Given the description of an element on the screen output the (x, y) to click on. 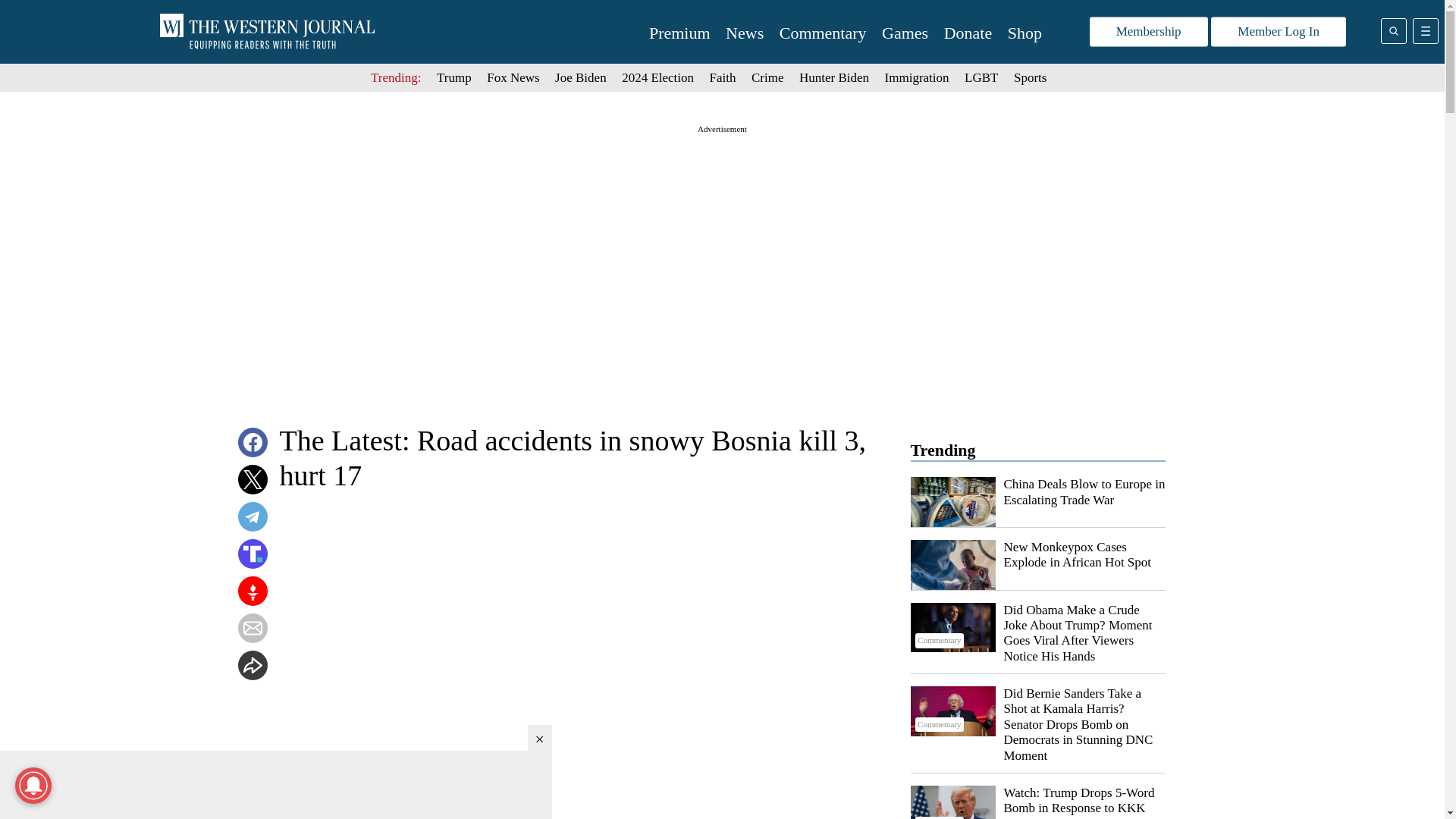
Member Log In (1278, 31)
Commentary (952, 802)
LGBT (980, 77)
Donate (967, 32)
Membership (1148, 31)
Hunter Biden (834, 77)
China Deals Blow to Europe in Escalating Trade War (1085, 491)
2024 Election (657, 77)
News (743, 32)
